Given the description of an element on the screen output the (x, y) to click on. 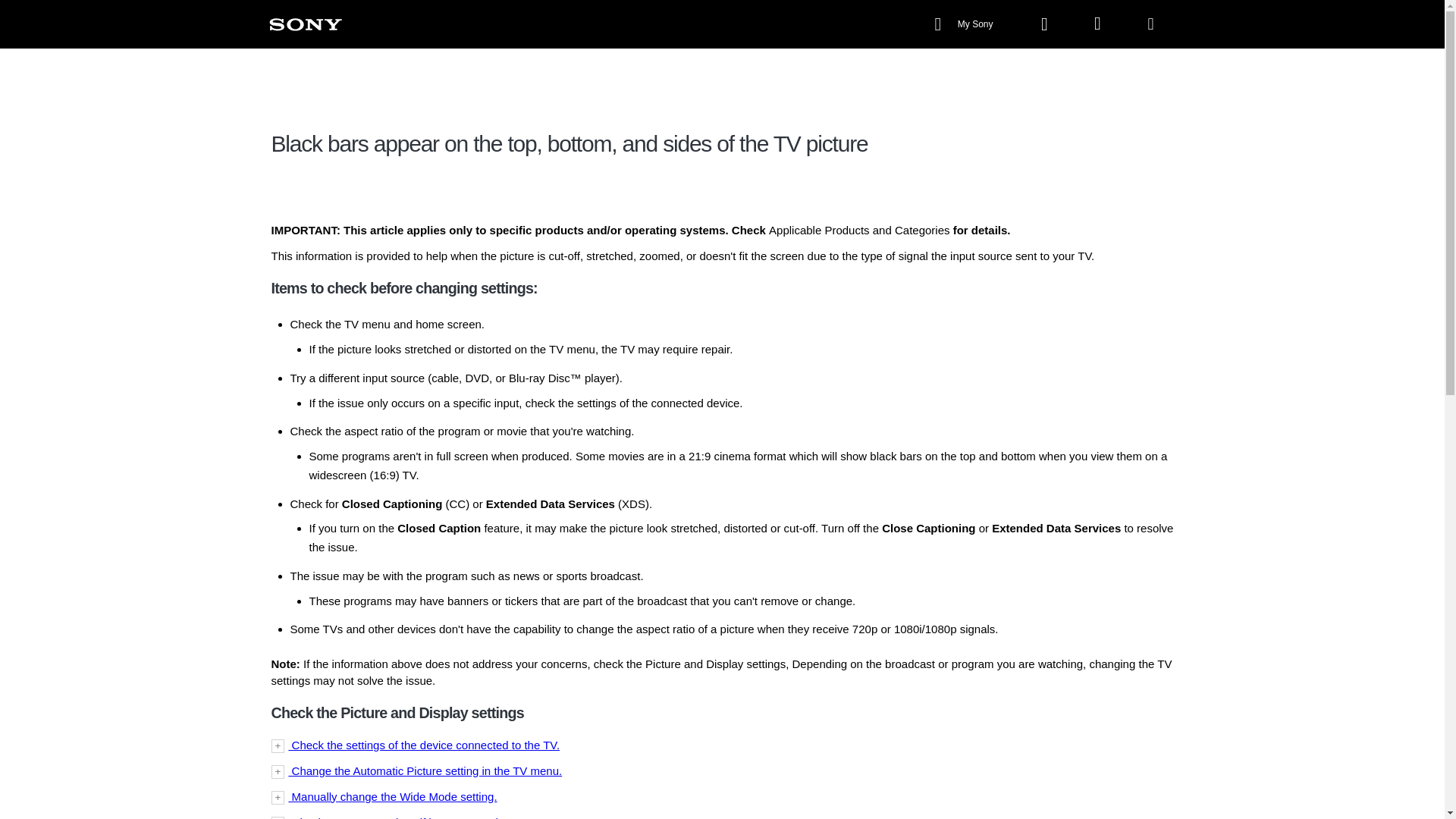
My Sony (964, 24)
expand (721, 796)
expand (721, 770)
expand (721, 745)
